Given the description of an element on the screen output the (x, y) to click on. 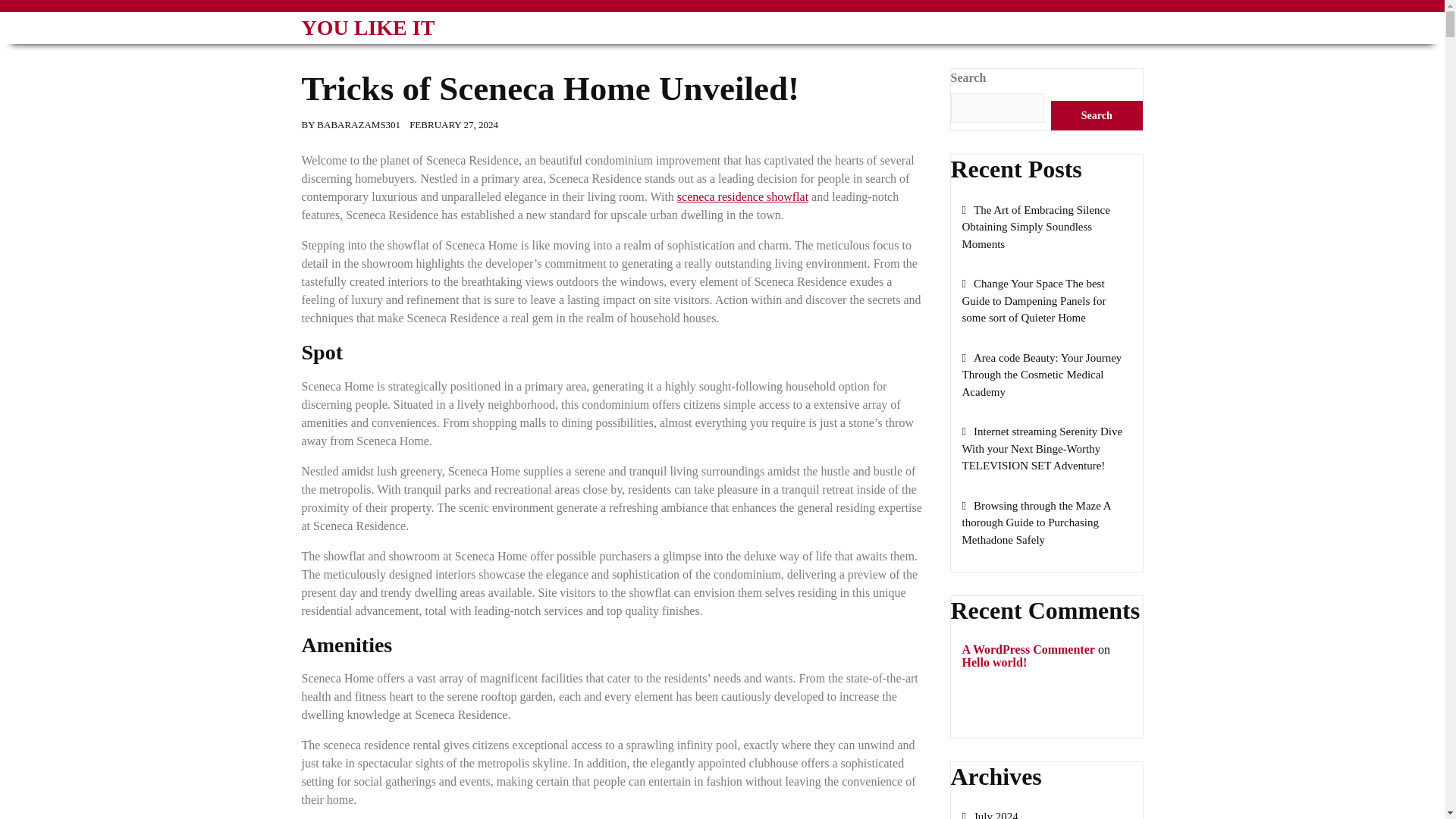
Hello world! (993, 662)
YOU LIKE IT (368, 27)
BABARAZAMS301 (358, 124)
A WordPress Commenter (1027, 649)
Search (1096, 115)
July 2024 (988, 814)
sceneca residence showflat (742, 196)
